Given the description of an element on the screen output the (x, y) to click on. 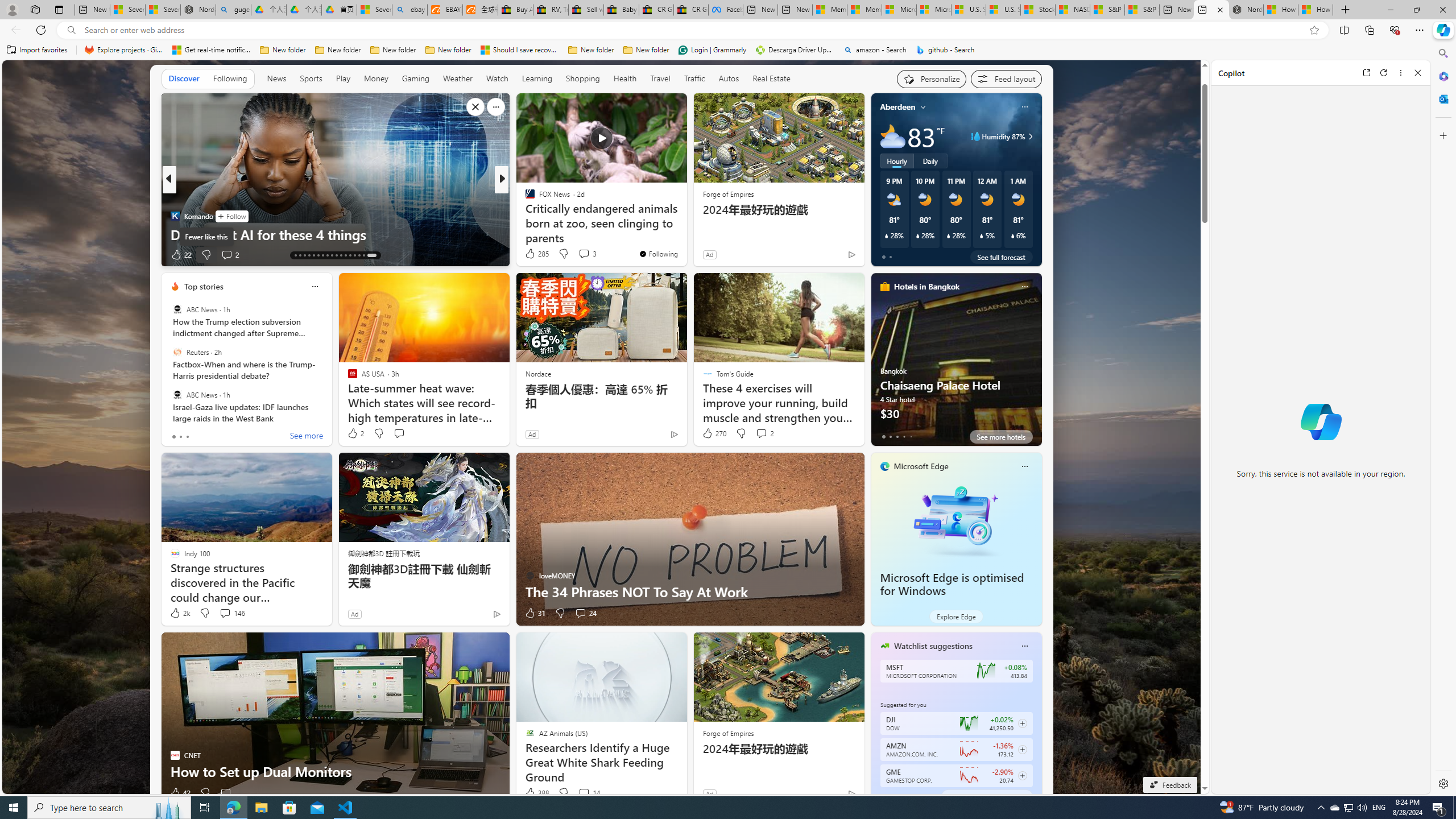
Favorites bar (715, 49)
View comments 24 Comment (585, 612)
